Given the description of an element on the screen output the (x, y) to click on. 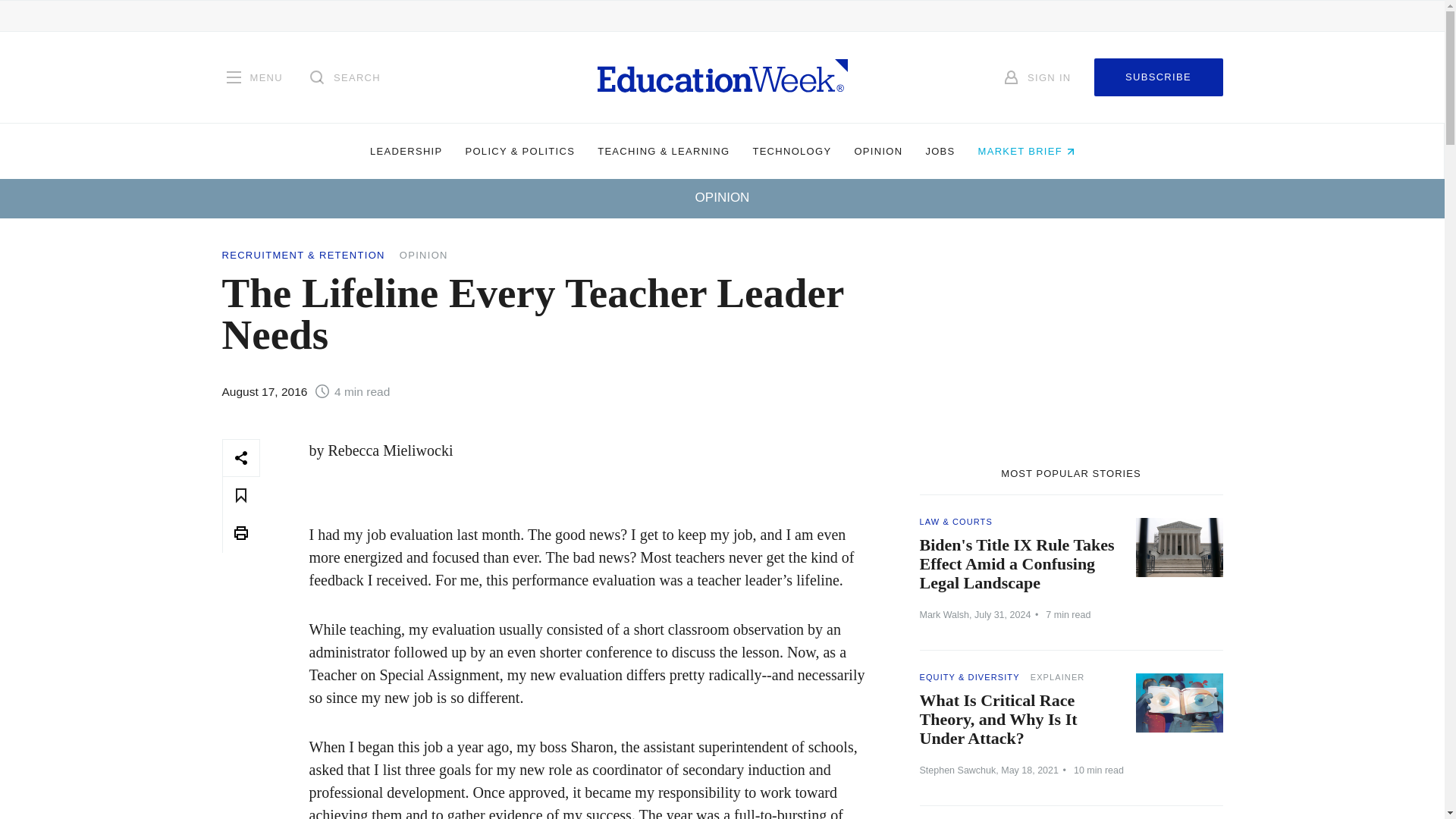
Homepage (721, 76)
